Given the description of an element on the screen output the (x, y) to click on. 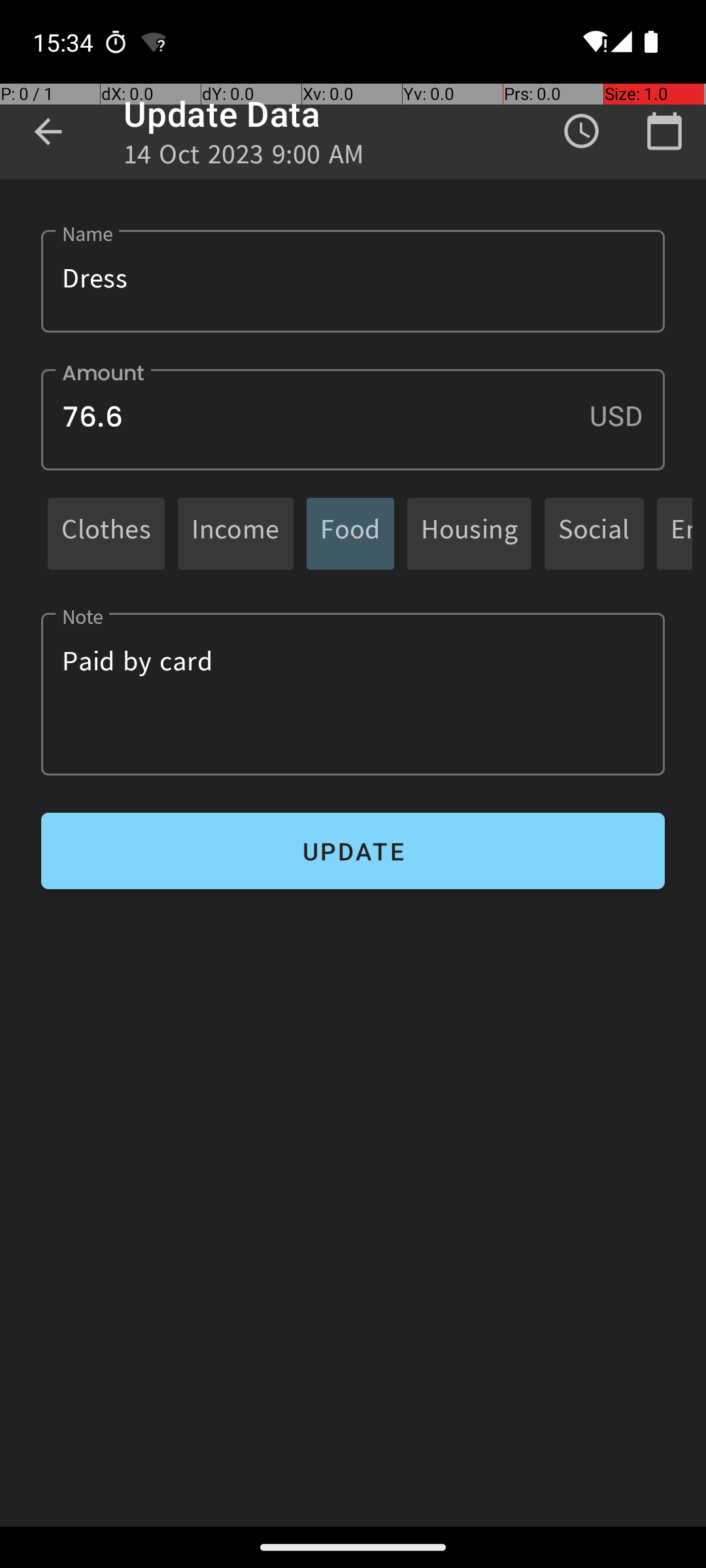
14 Oct 2023 9:00 AM Element type: android.widget.TextView (243, 157)
Dress Element type: android.widget.EditText (352, 280)
76.6 Element type: android.widget.EditText (352, 419)
Clothes Element type: android.widget.TextView (106, 533)
